Given the description of an element on the screen output the (x, y) to click on. 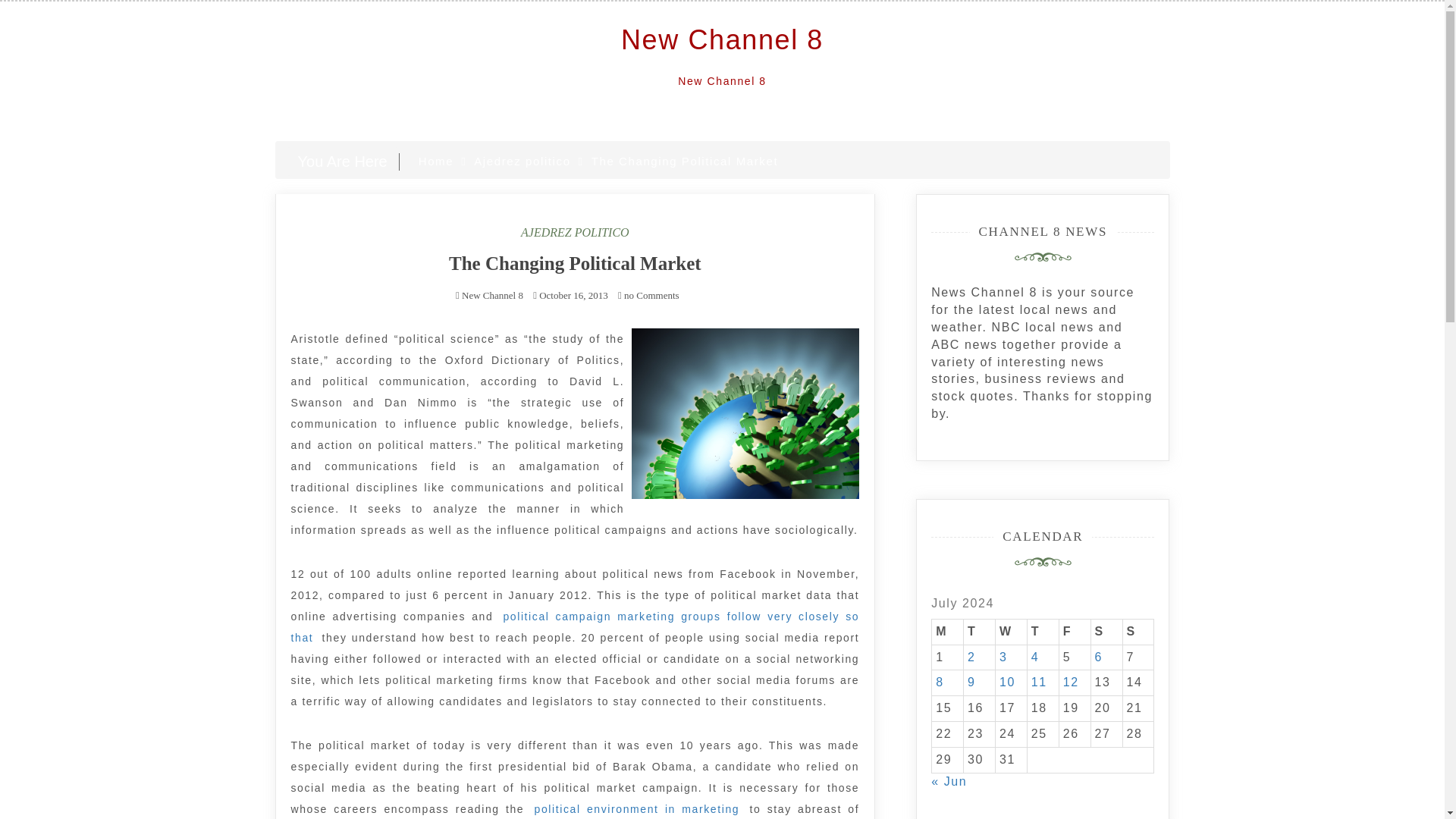
Ajedrez politico (522, 160)
More (637, 809)
political environment in marketing (637, 809)
October 16, 2013 (573, 295)
Related to the topic of Marketing politico en el peru (575, 626)
no Comments (648, 295)
The Changing Political Market (574, 263)
12 (1070, 681)
Home (435, 160)
11 (1038, 681)
Tuesday (979, 631)
New Channel 8 (491, 295)
New Channel 8 (722, 39)
Thursday (1042, 631)
